Given the description of an element on the screen output the (x, y) to click on. 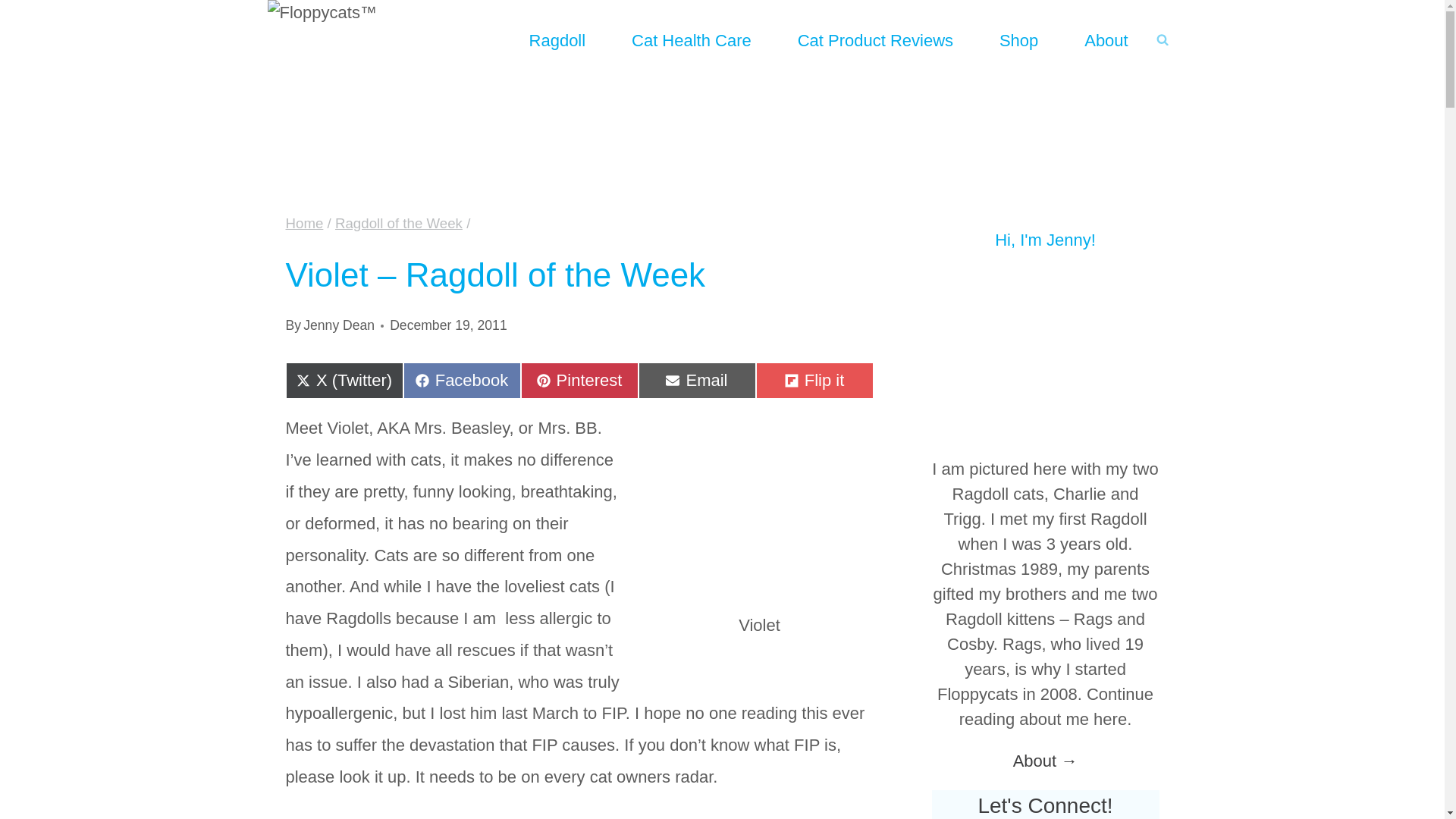
Cat Product Reviews (874, 39)
Home (304, 222)
Ragdoll (697, 380)
Jenny Dean (557, 39)
Shop (462, 380)
Violet 2010.3-2... (338, 324)
About (1018, 39)
Cat Health Care (759, 504)
